Given the description of an element on the screen output the (x, y) to click on. 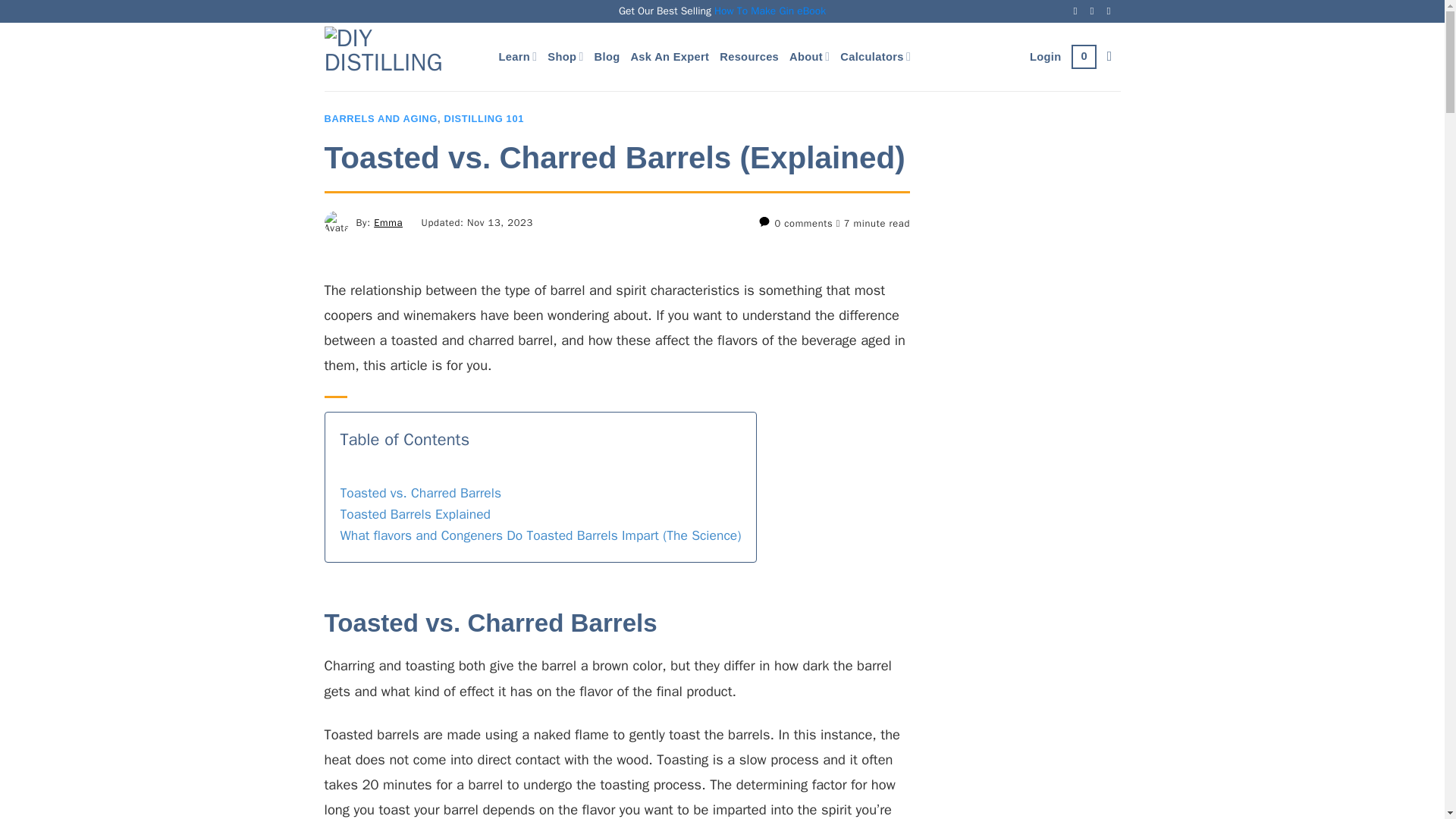
Toasted vs. Charred Barrels (419, 493)
Blog (607, 56)
Send us an email (1095, 10)
Login (1045, 56)
How To Make Gin eBook (769, 10)
DIY Distilling - Helping Handcraft Spirits At Home (400, 56)
Follow on Instagram (1079, 10)
Follow on Pinterest (1112, 10)
Learn (518, 56)
